Given the description of an element on the screen output the (x, y) to click on. 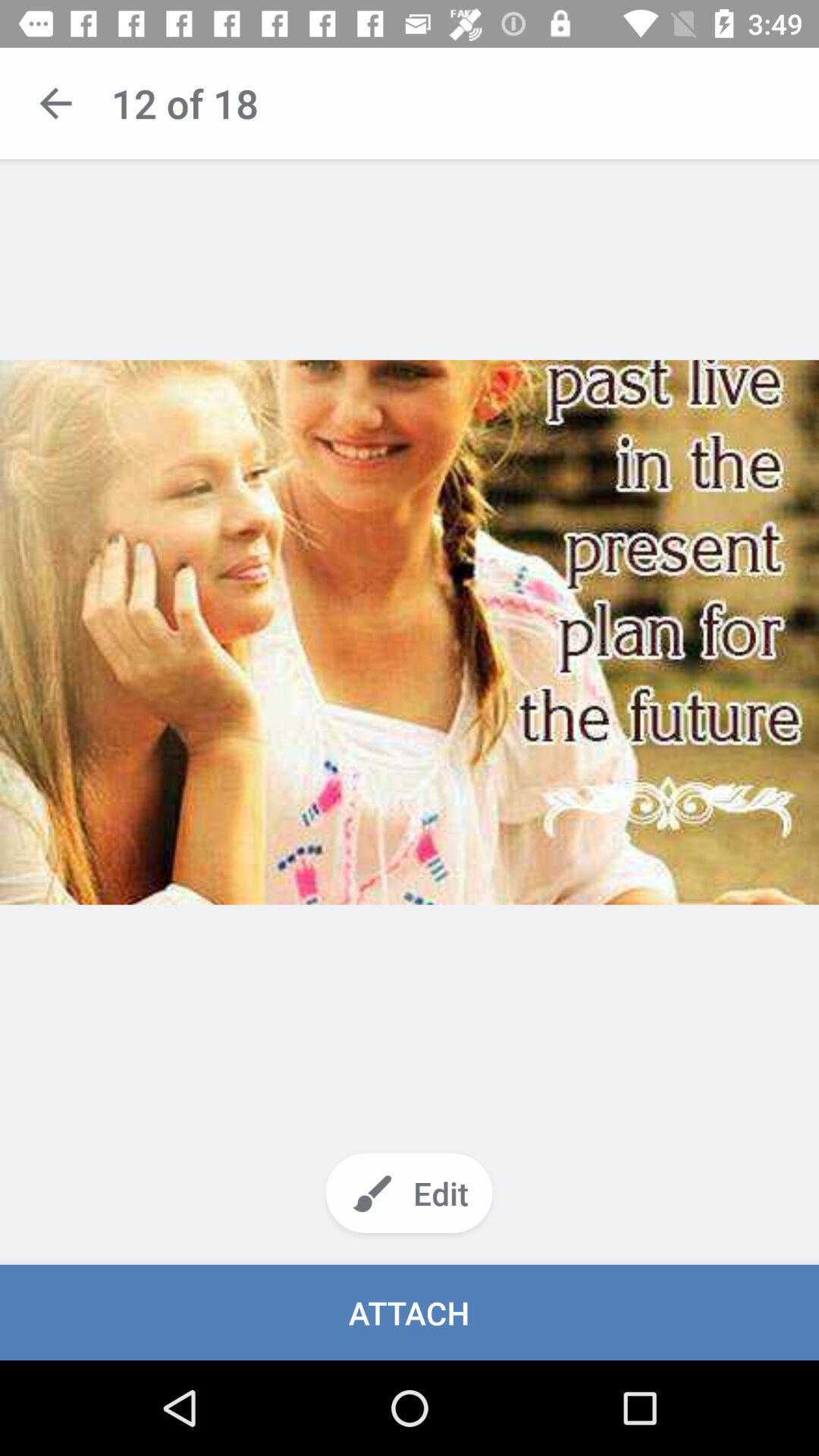
go to previous (55, 103)
